Given the description of an element on the screen output the (x, y) to click on. 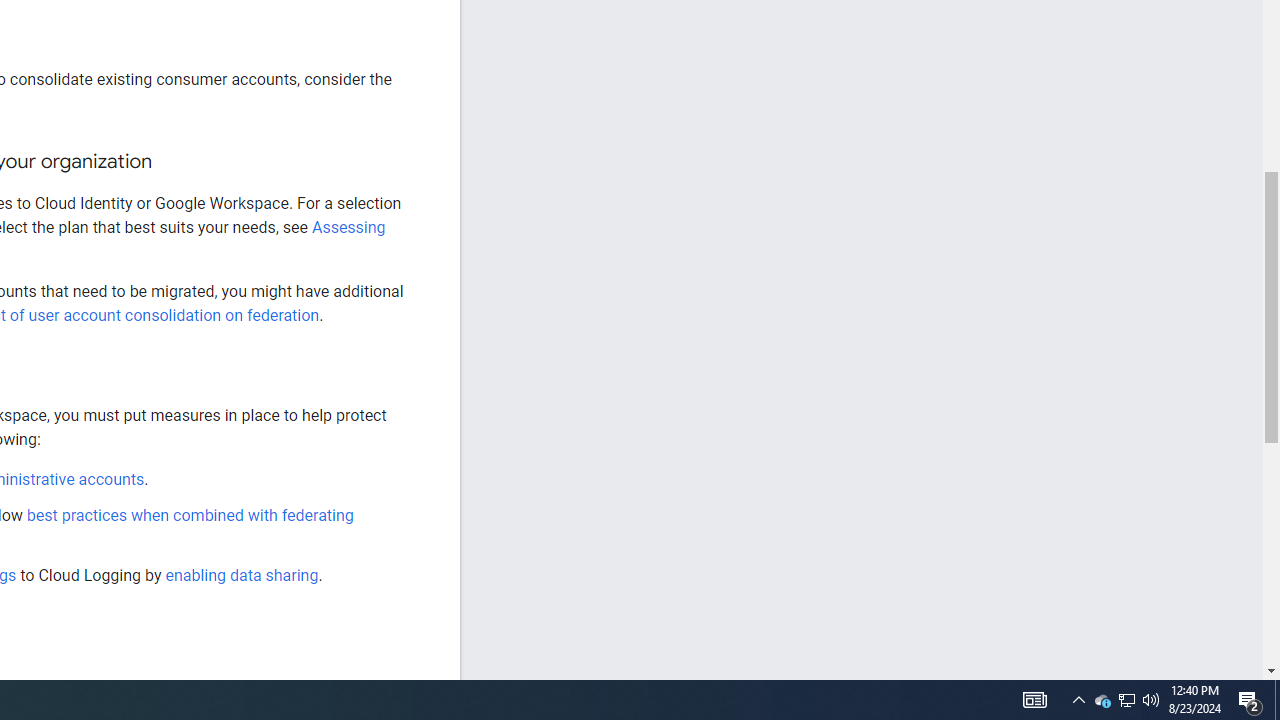
enabling data sharing (241, 574)
